Given the description of an element on the screen output the (x, y) to click on. 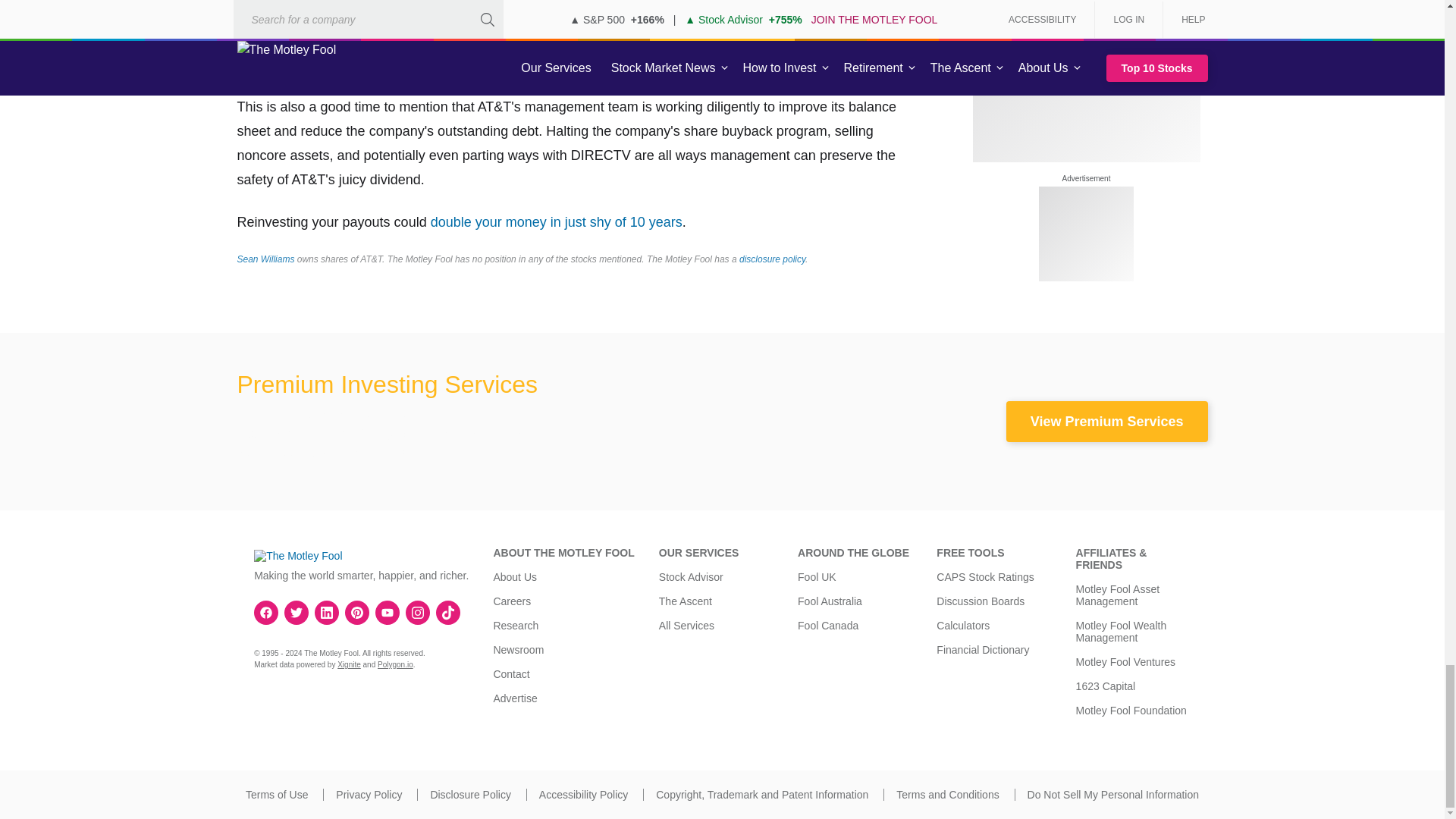
Copyright, Trademark and Patent Information (761, 794)
Disclosure Policy (470, 794)
Terms of Use (276, 794)
Terms and Conditions (947, 794)
Do Not Sell My Personal Information. (1112, 794)
Accessibility Policy (582, 794)
Privacy Policy (368, 794)
